Given the description of an element on the screen output the (x, y) to click on. 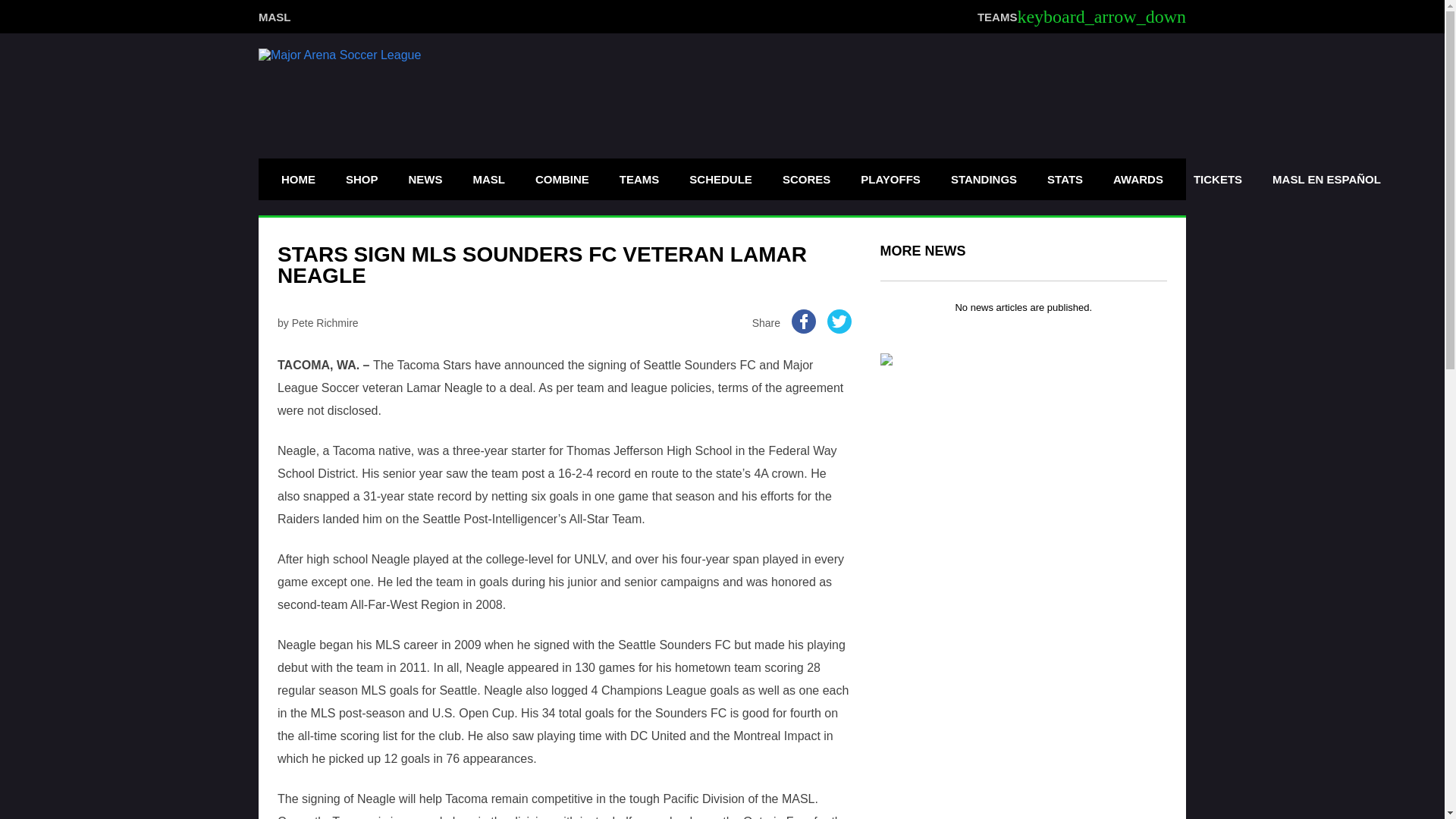
STANDINGS (983, 178)
COMBINE (561, 178)
SHOP (362, 178)
TEAMS (639, 178)
PLAYOFFS (889, 178)
SCHEDULE (720, 178)
MASL (275, 16)
HOME (297, 178)
SCORES (806, 178)
